Given the description of an element on the screen output the (x, y) to click on. 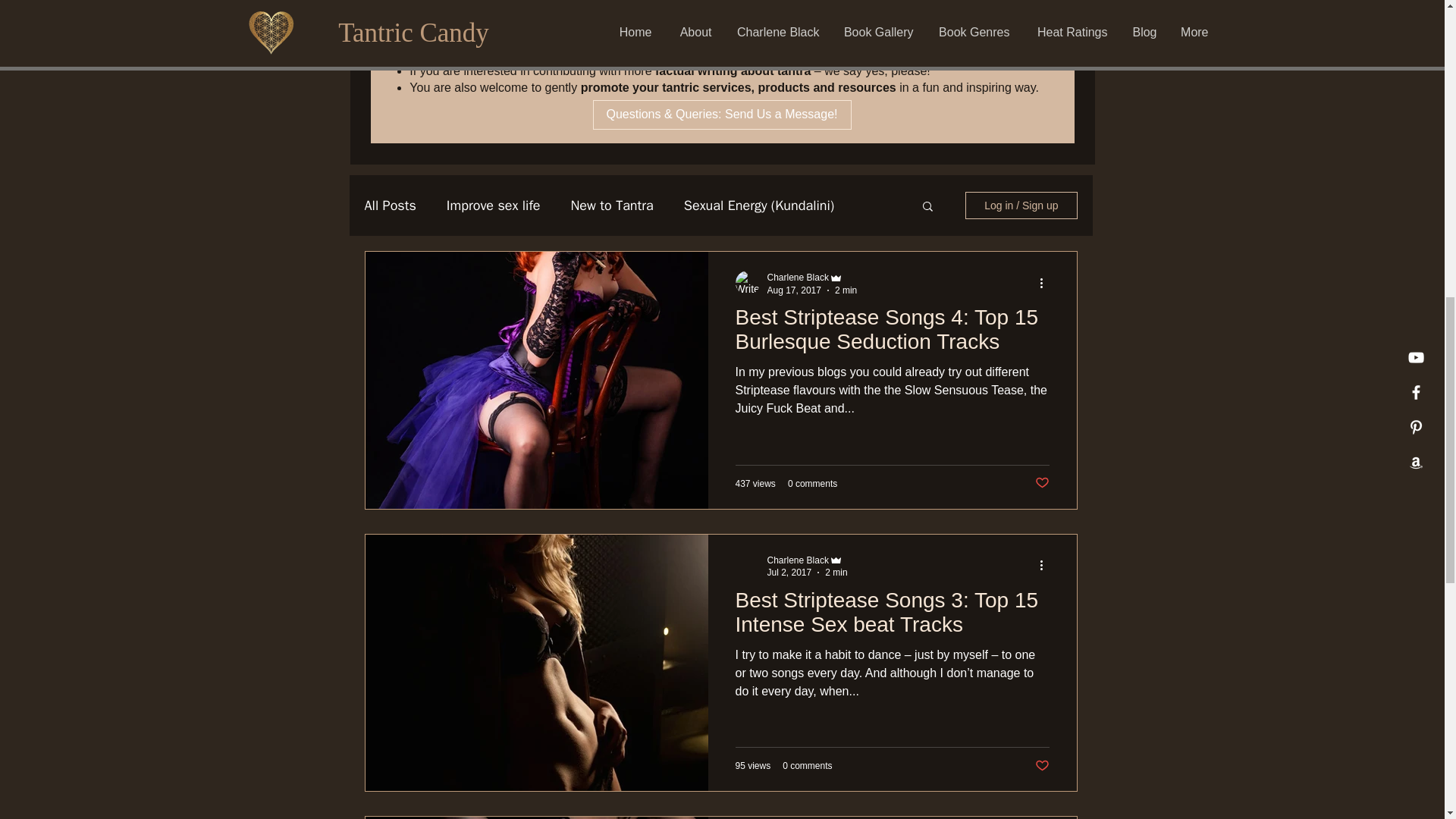
Charlene Black (797, 560)
Aug 17, 2017 (794, 290)
2 min (836, 572)
Jul 2, 2017 (789, 572)
Charlene Black (797, 276)
2 min (845, 290)
